Given the description of an element on the screen output the (x, y) to click on. 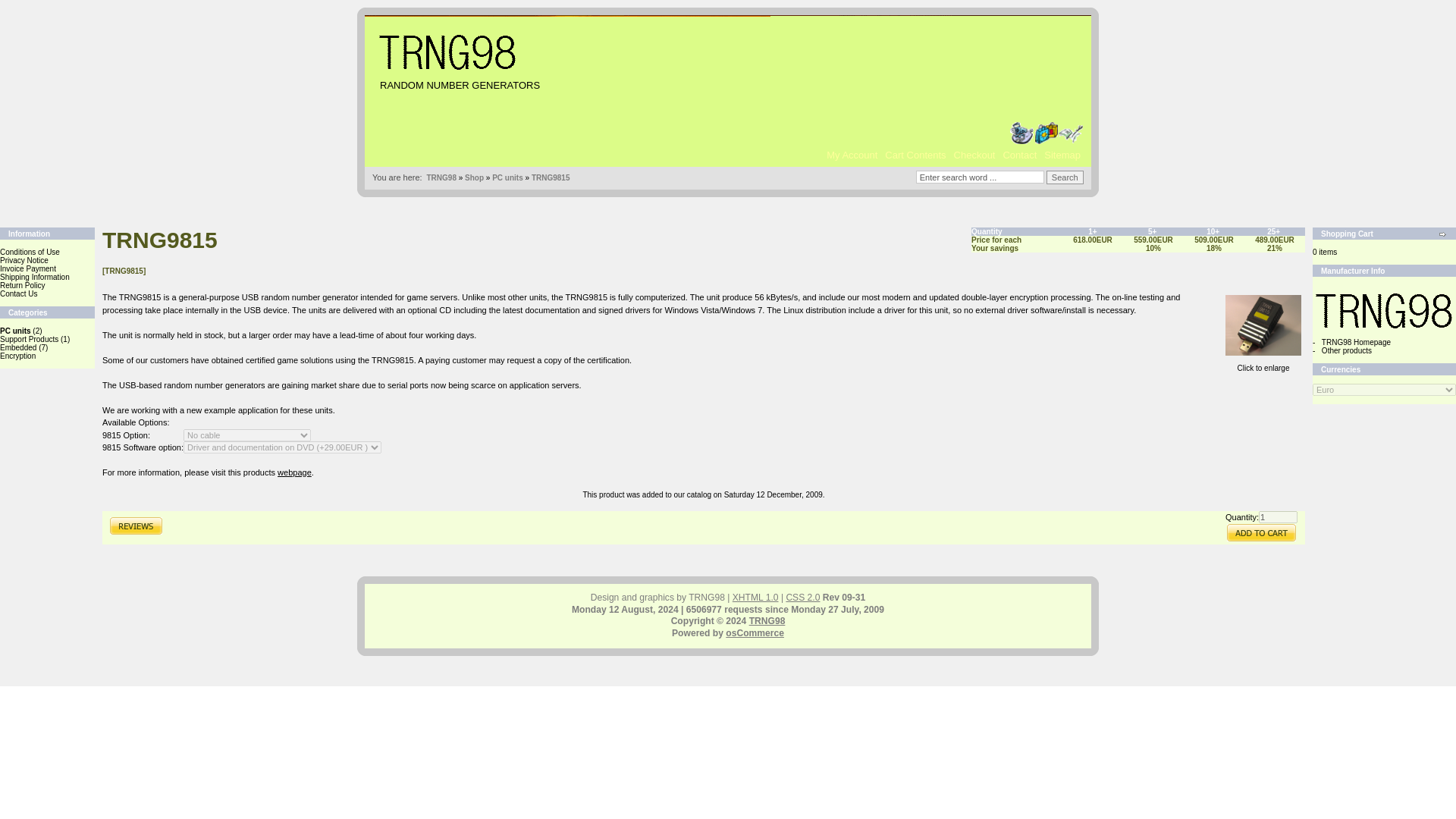
Checkout (974, 155)
 more  (1442, 234)
Other products (1346, 350)
PC units (15, 330)
TRNG98 (440, 177)
XHTML 1.0 (755, 597)
Search (1065, 177)
My Account (851, 155)
TRNG98 Homepage (1356, 342)
webpage (294, 470)
